Given the description of an element on the screen output the (x, y) to click on. 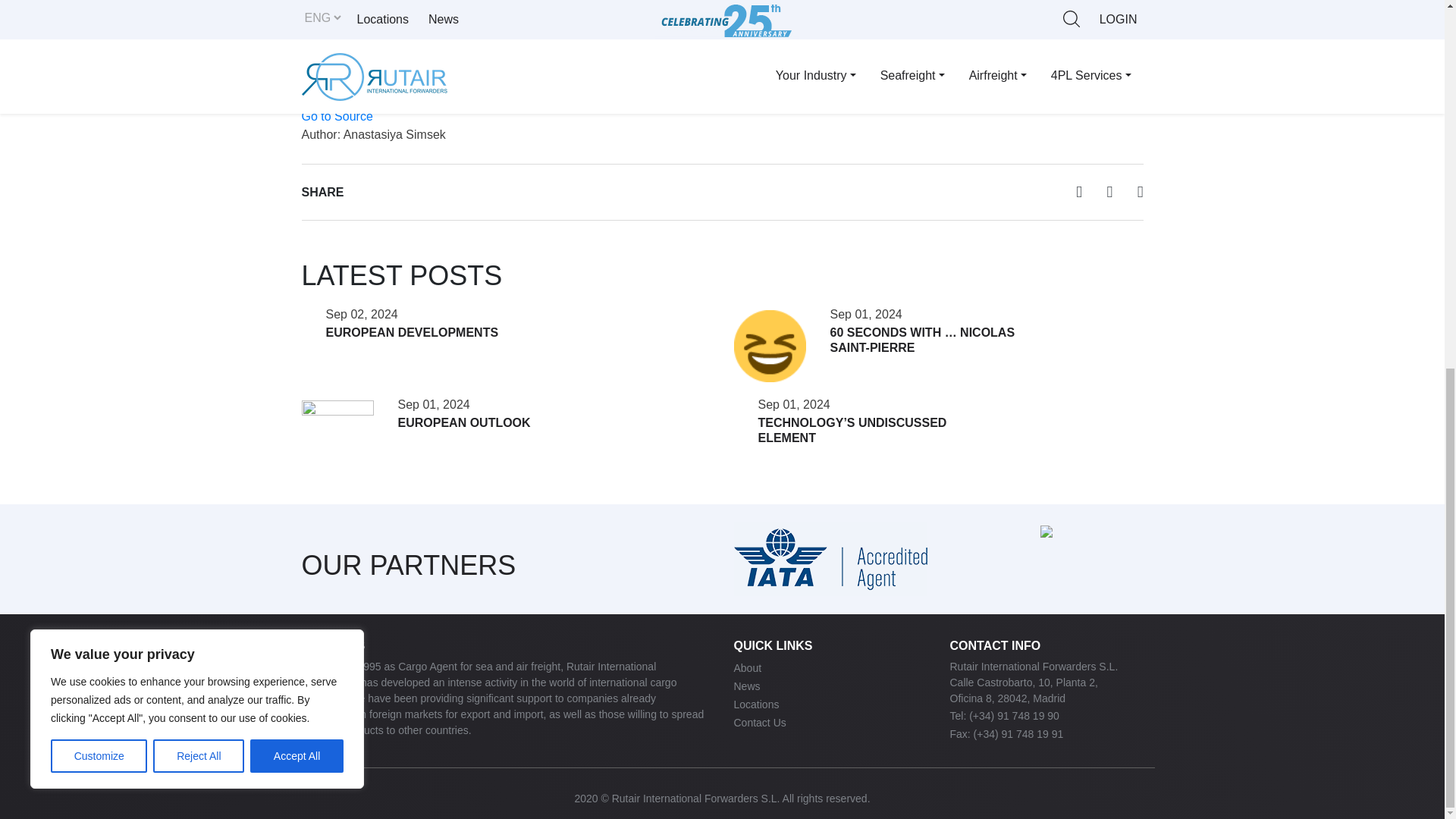
Customize (98, 90)
Accept All (296, 90)
Reject All (198, 90)
